Given the description of an element on the screen output the (x, y) to click on. 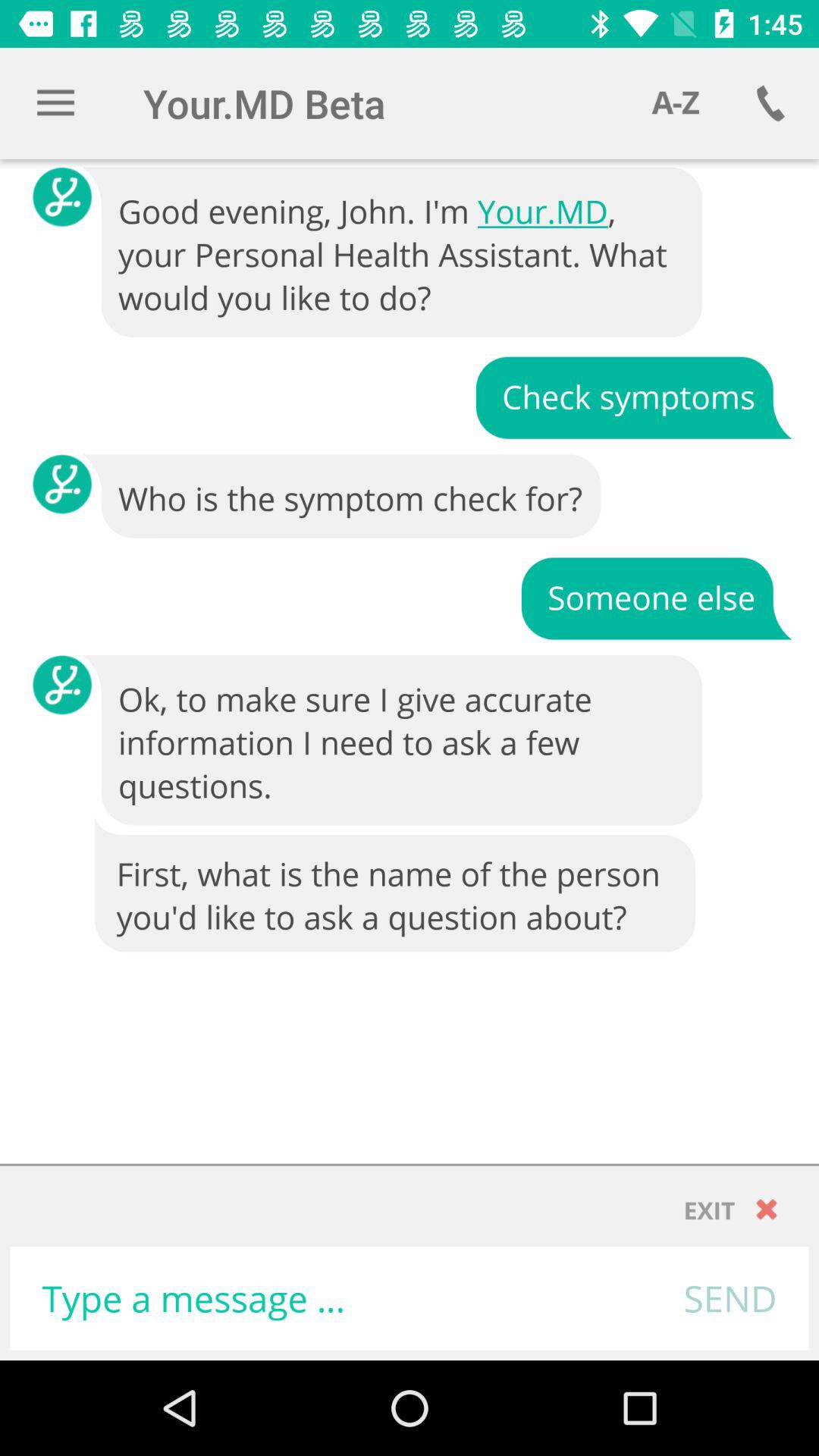
flip to good evening john (393, 252)
